Given the description of an element on the screen output the (x, y) to click on. 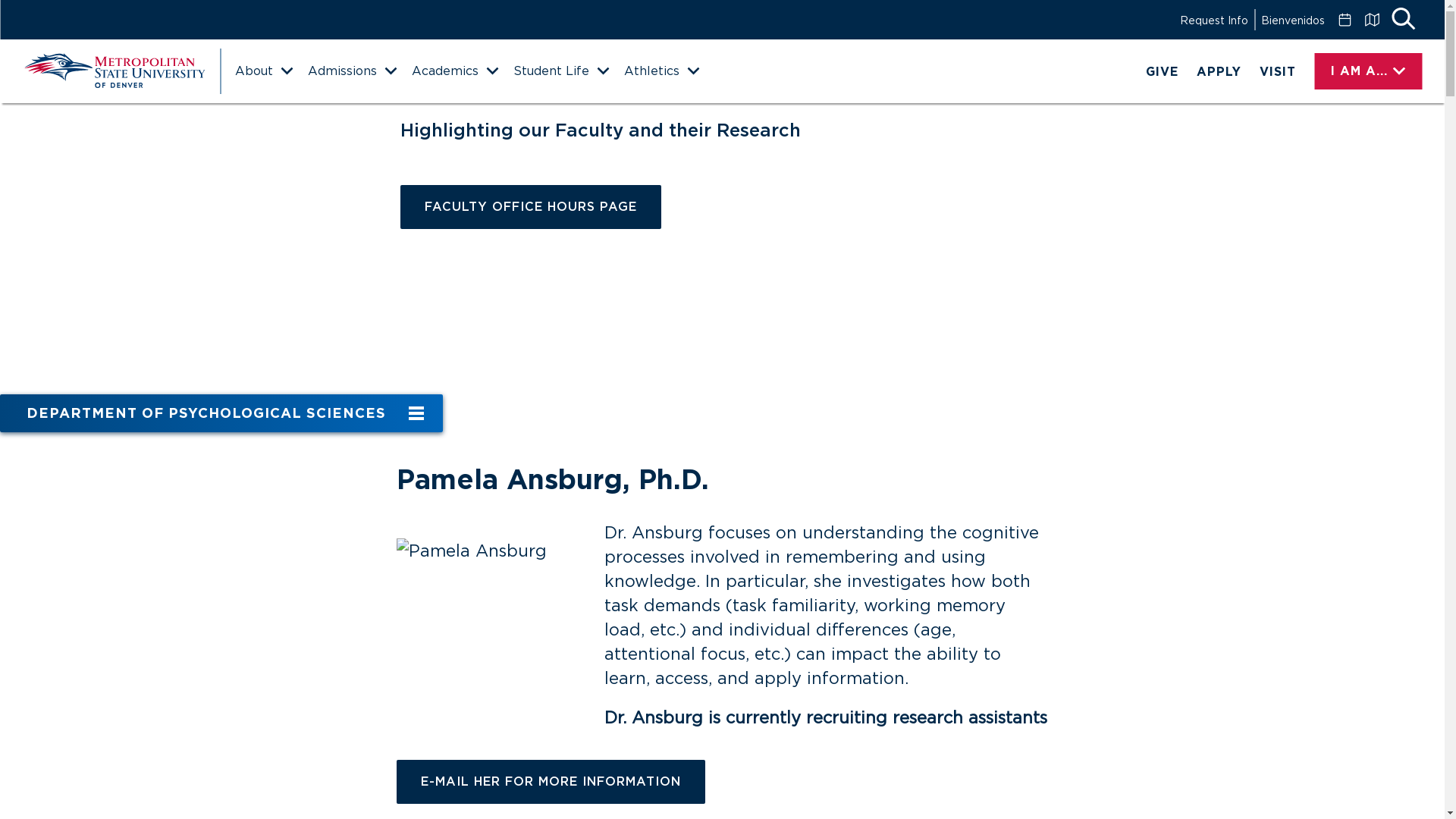
Map (1371, 19)
MSU Denver (114, 70)
Request Info (1213, 20)
About (263, 71)
Calendar (1344, 19)
Bienvenidos (1292, 20)
Search (1403, 19)
